Given the description of an element on the screen output the (x, y) to click on. 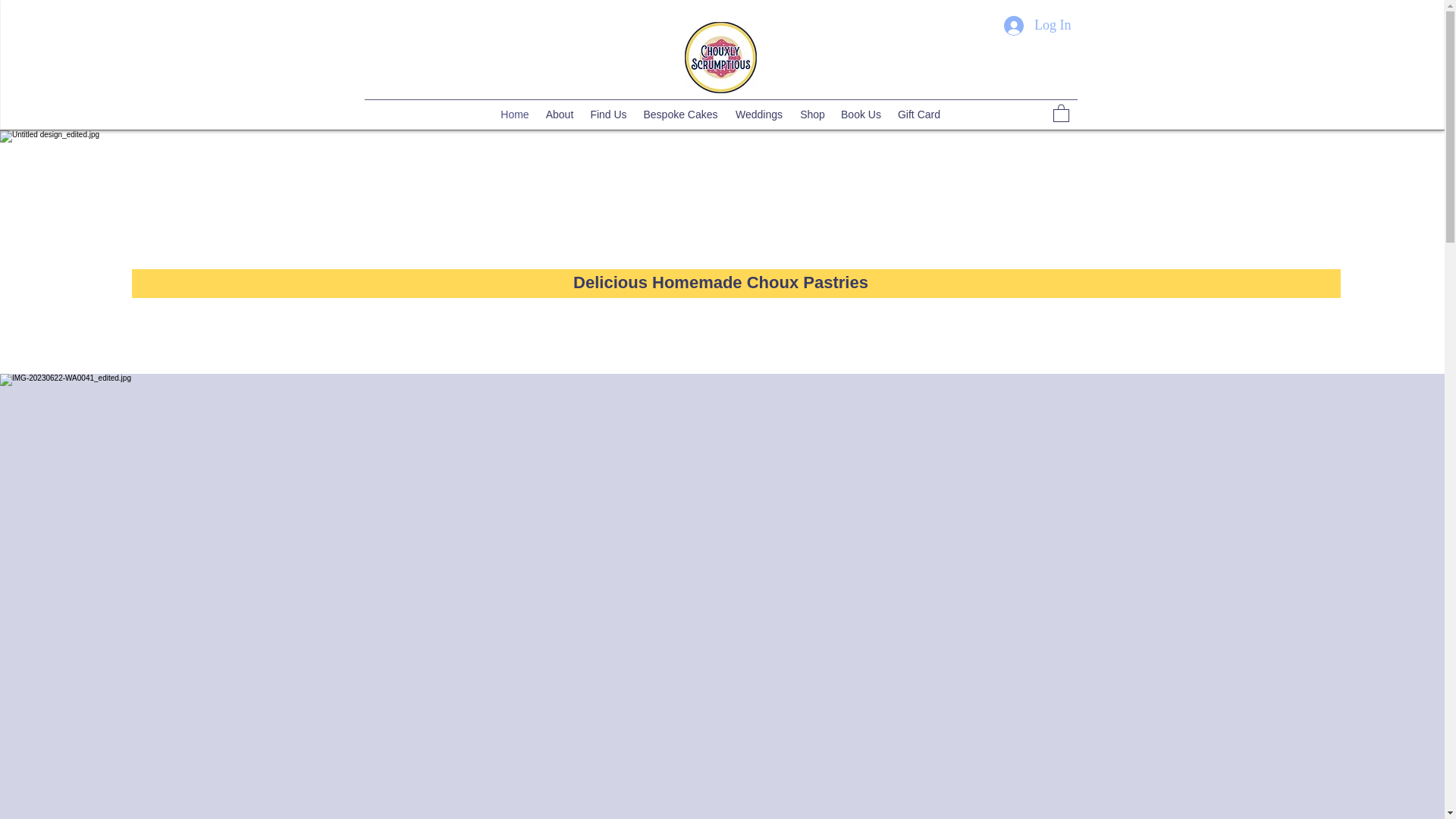
Find Us (608, 114)
Book Us (860, 114)
Home (515, 114)
Bespoke Cakes (680, 114)
Weddings (759, 114)
About (558, 114)
Shop (812, 114)
Log In (1036, 25)
Gift Card (918, 114)
